Given the description of an element on the screen output the (x, y) to click on. 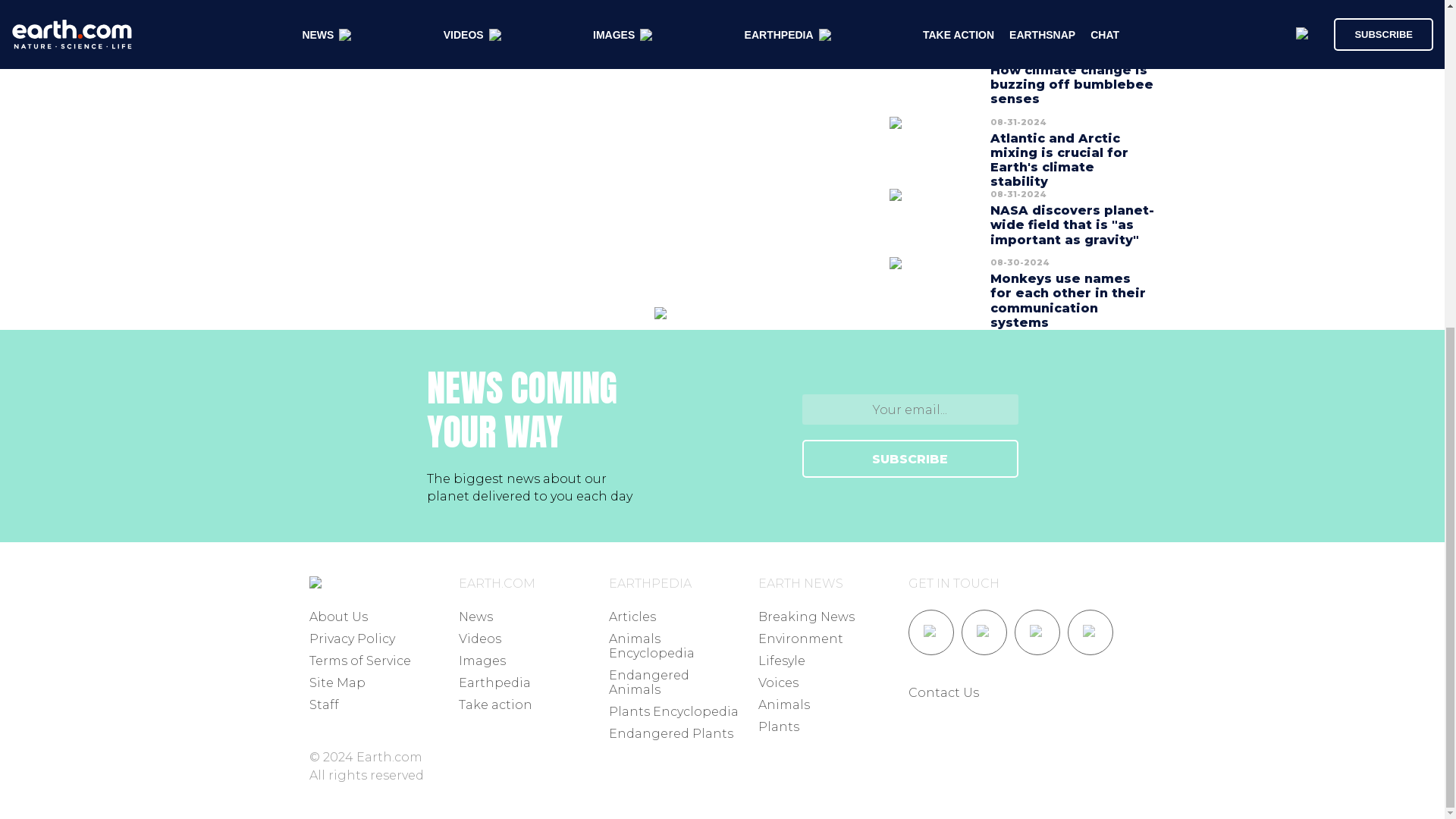
How climate change is buzzing off bumblebee senses (1071, 84)
